Given the description of an element on the screen output the (x, y) to click on. 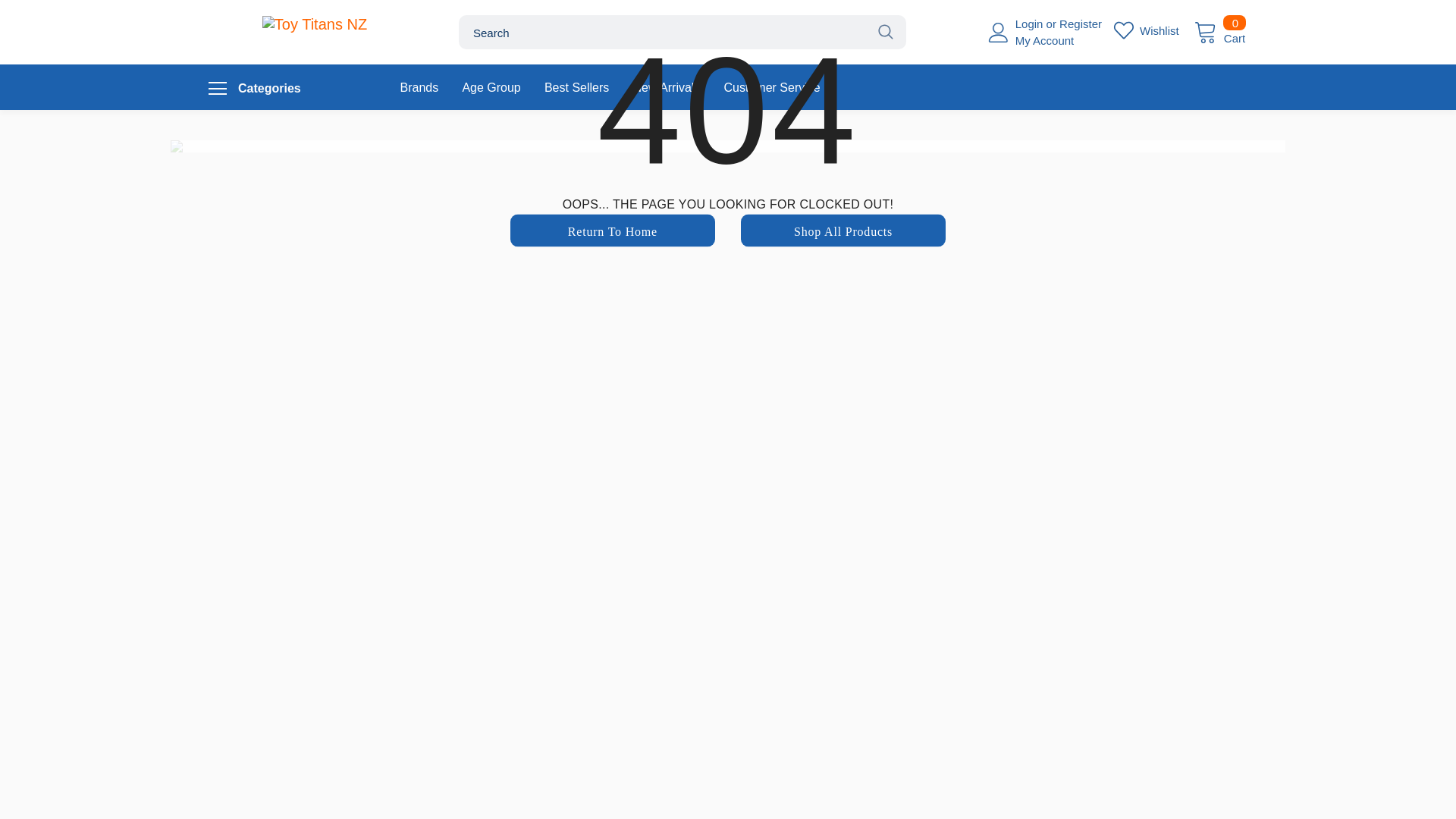
Logo (314, 24)
My Account (1044, 40)
Login (1030, 23)
Wishlist (1219, 30)
Register (1146, 30)
